Given the description of an element on the screen output the (x, y) to click on. 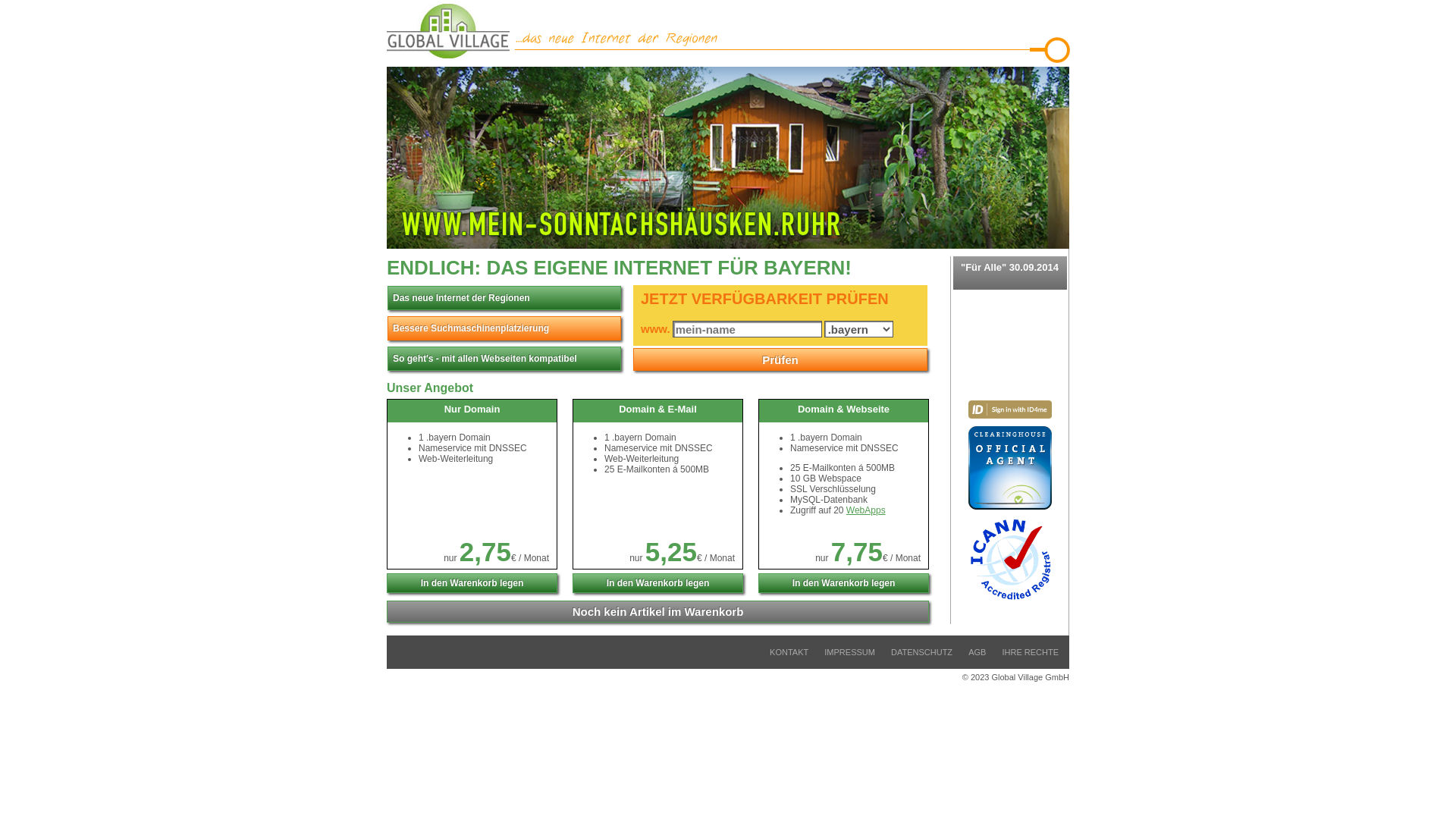
IHRE RECHTE Element type: text (1029, 651)
Das neue Internet der Regionen Element type: text (504, 297)
Bessere Suchmaschinenplatzierung Element type: text (504, 328)
KONTAKT Element type: text (788, 651)
IMPRESSUM Element type: text (849, 651)
In den Warenkorb legen Element type: text (471, 583)
DATENSCHUTZ Element type: text (921, 651)
In den Warenkorb legen Element type: text (657, 583)
AGB Element type: text (976, 651)
WebApps Element type: text (865, 510)
In den Warenkorb legen Element type: text (843, 583)
So geht's - mit allen Webseiten kompatibel Element type: text (504, 358)
Noch kein Artikel im Warenkorb Element type: text (657, 611)
